Given the description of an element on the screen output the (x, y) to click on. 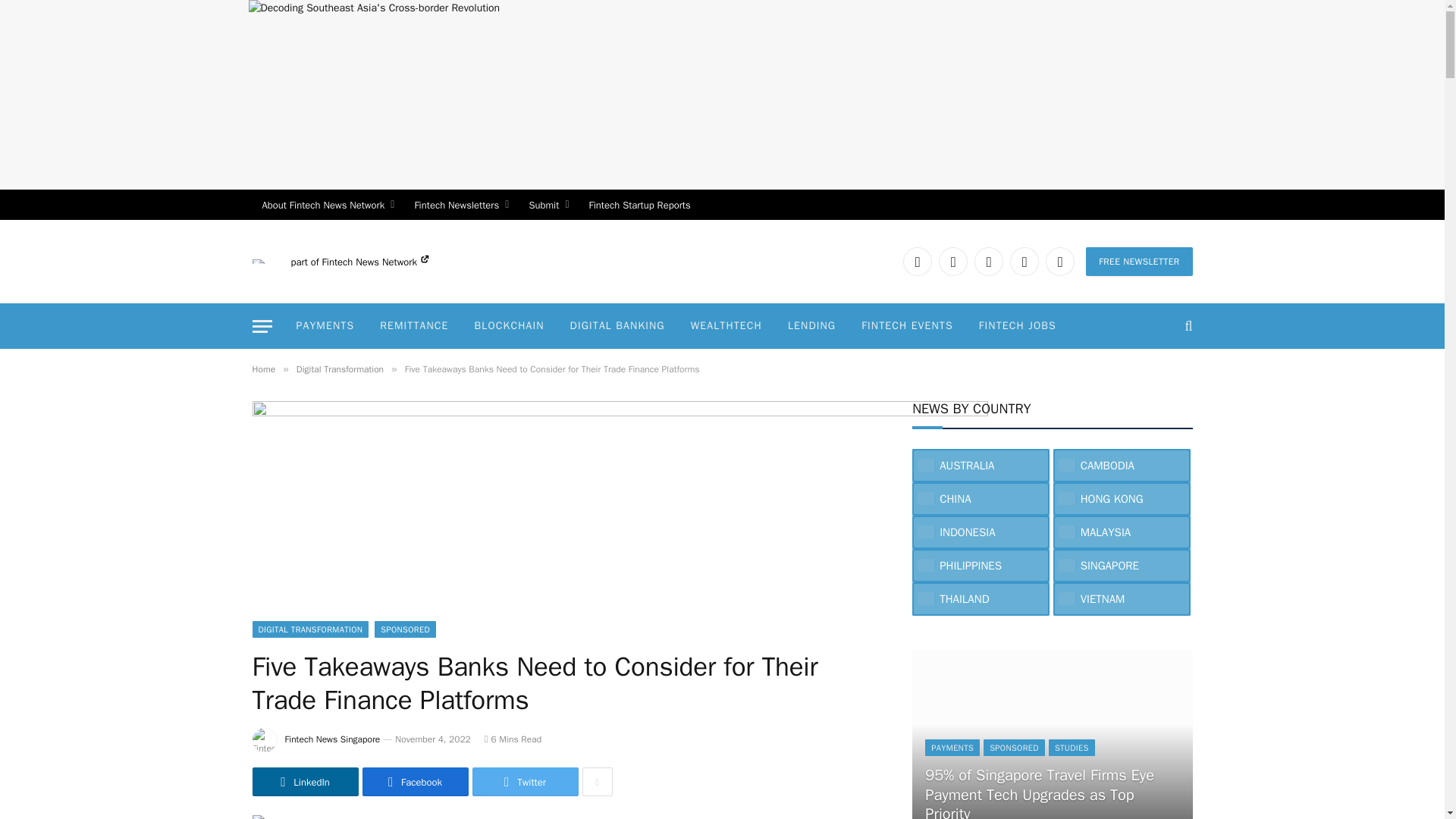
Share on Facebook (415, 781)
Fintech Startup Reports (639, 204)
Posts by Fintech News Singapore (332, 739)
Share on LinkedIn (304, 781)
About Fintech News Network (327, 204)
Fintech Newsletters (461, 204)
Show More Social Sharing (597, 781)
Fintech News Network (375, 261)
Submit (548, 204)
